Given the description of an element on the screen output the (x, y) to click on. 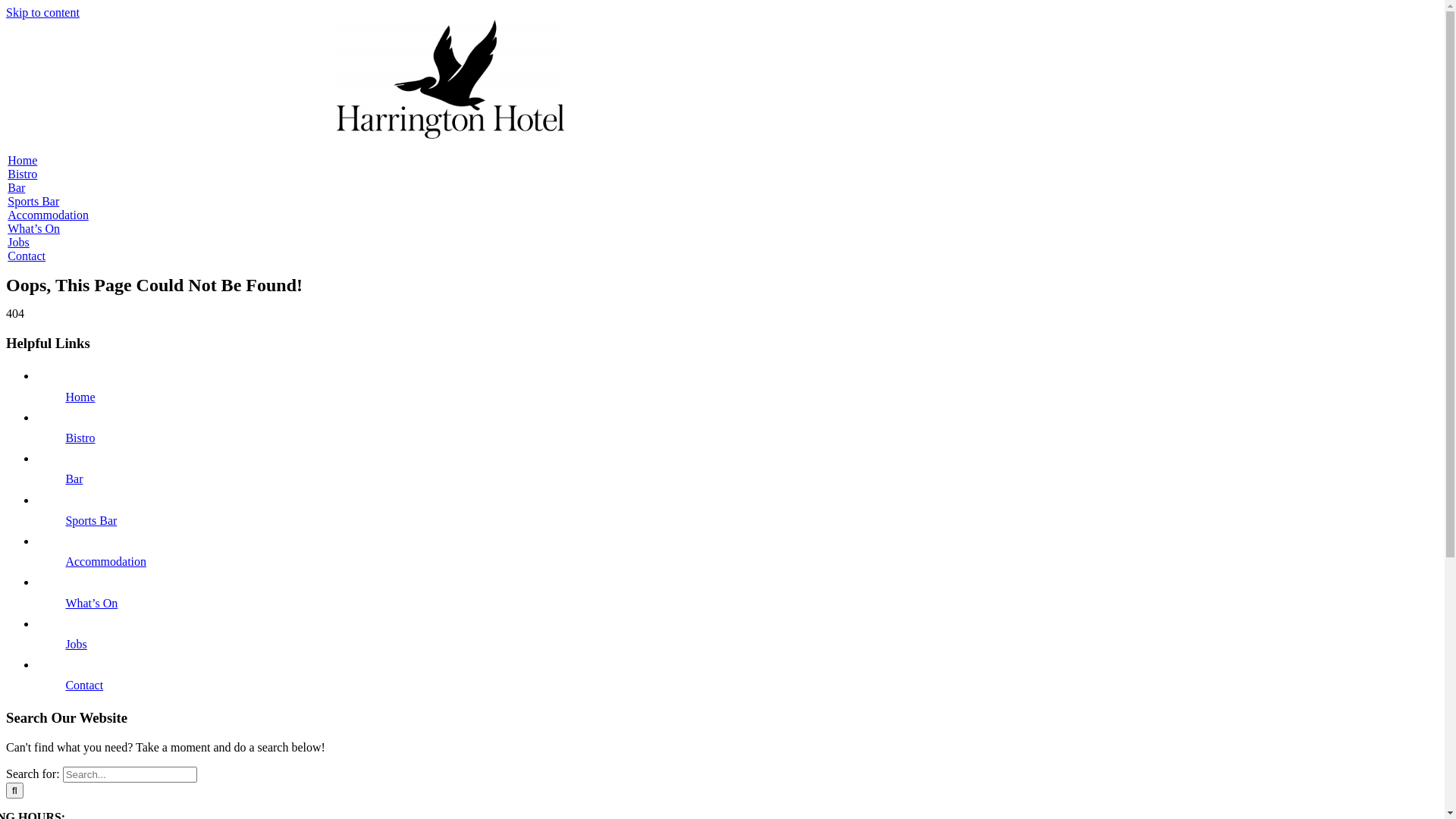
Skip to content Element type: text (42, 12)
Harrington Logo 1 Black Element type: hover (450, 78)
Accommodation Element type: text (105, 561)
Contact Element type: text (26, 255)
Accommodation Element type: text (47, 214)
Home Element type: text (22, 159)
Bar Element type: text (16, 187)
Sports Bar Element type: text (90, 520)
Sports Bar Element type: text (33, 200)
Jobs Element type: text (75, 643)
Bar Element type: text (73, 478)
Bistro Element type: text (22, 173)
Contact Element type: text (84, 684)
Jobs Element type: text (17, 241)
Home Element type: text (79, 396)
Bistro Element type: text (79, 437)
